Given the description of an element on the screen output the (x, y) to click on. 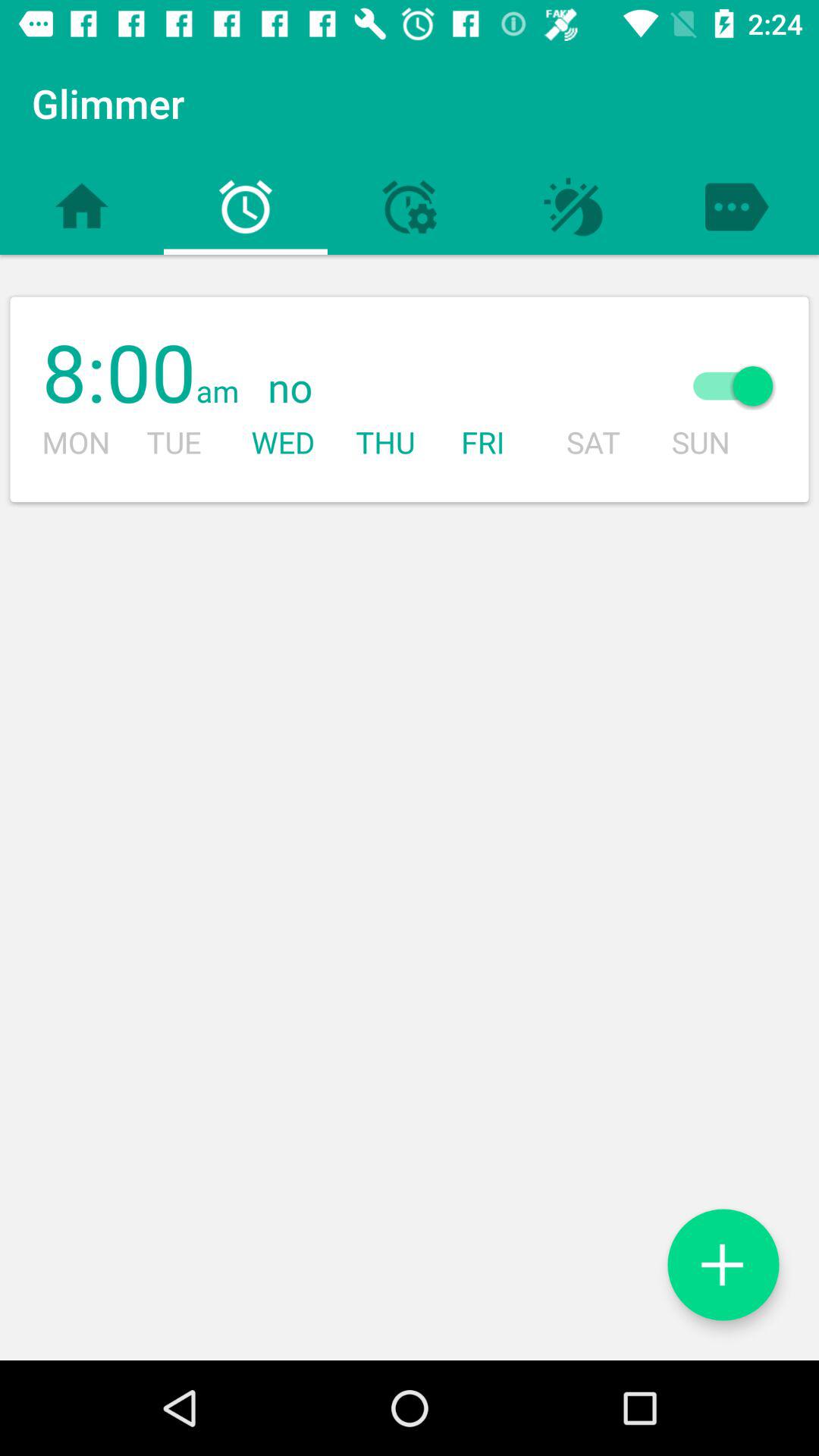
press the item next to am (443, 388)
